Given the description of an element on the screen output the (x, y) to click on. 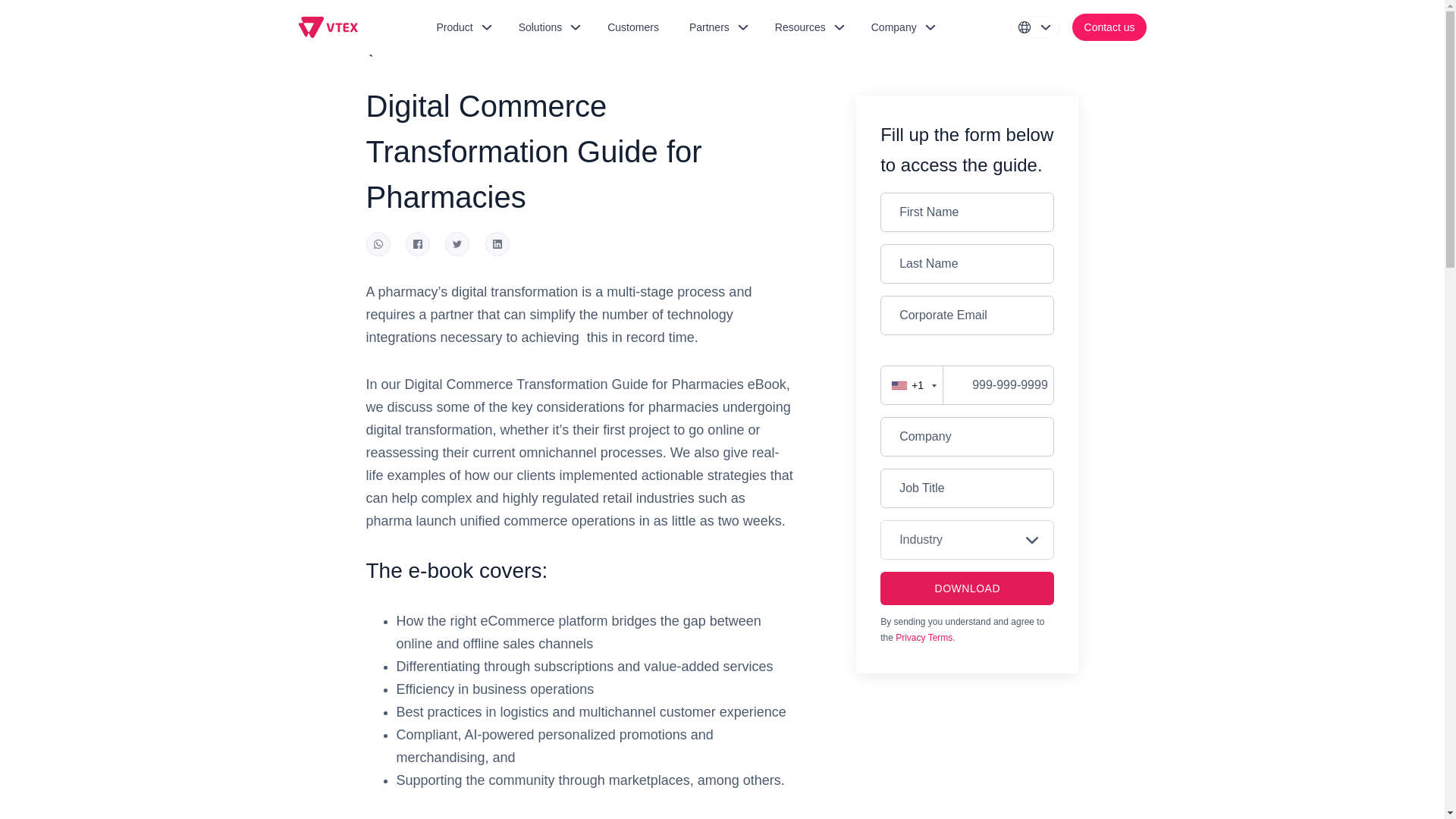
Share on Whatsapp (378, 243)
Share on Twitter (456, 243)
Share on Linkedin (497, 243)
Solutions (547, 26)
Partners (717, 26)
Share on Facebook (417, 243)
Customers (633, 26)
Company (901, 26)
Product (461, 26)
Resources (807, 26)
